Given the description of an element on the screen output the (x, y) to click on. 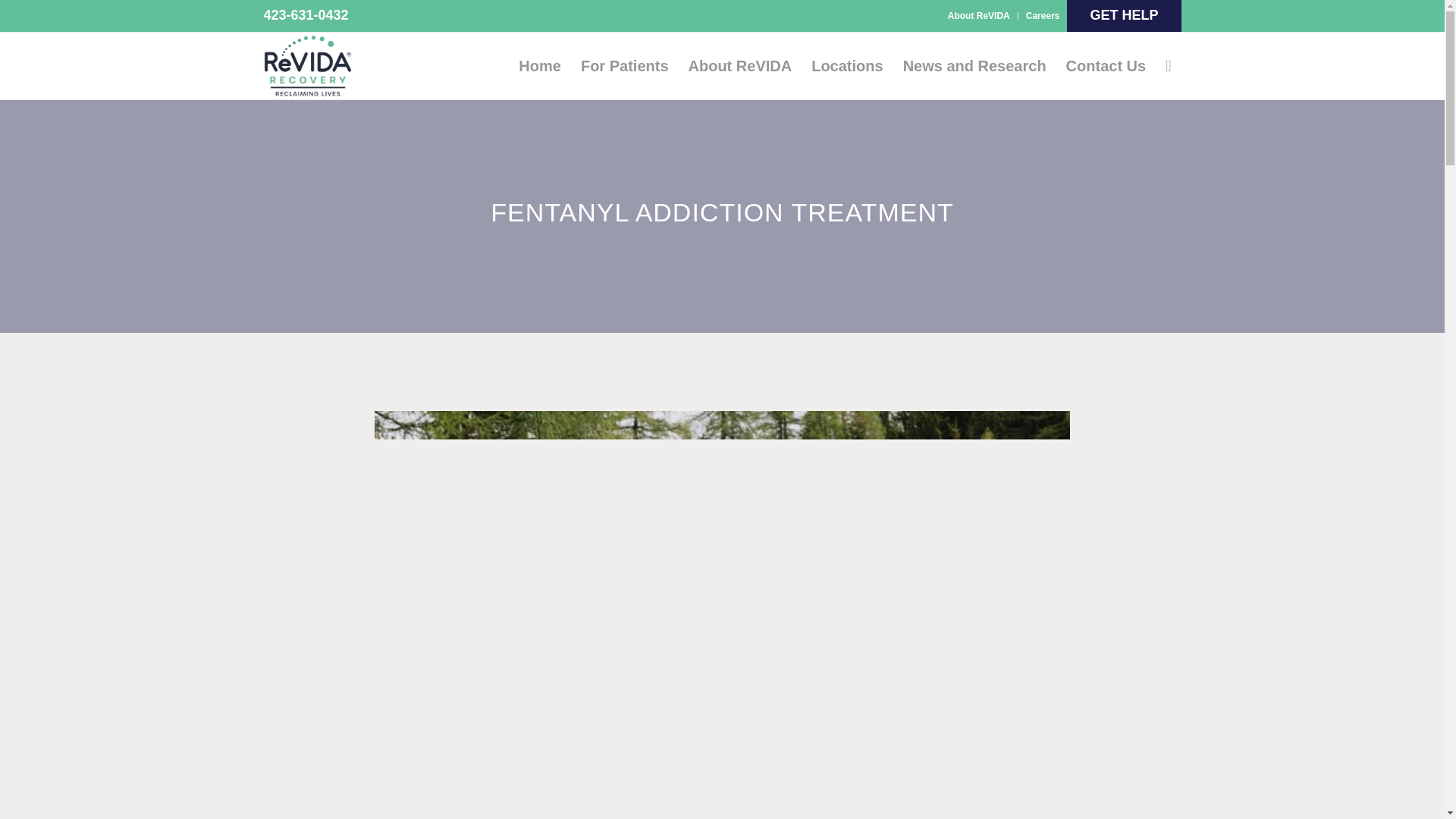
Contact Us (1106, 65)
About ReVIDA (978, 15)
For Patients (624, 65)
About ReVIDA (740, 65)
GET HELP (1123, 14)
Home (539, 65)
Careers (1042, 15)
423-631-0432 (306, 14)
Locations (847, 65)
News and Research (975, 65)
